Given the description of an element on the screen output the (x, y) to click on. 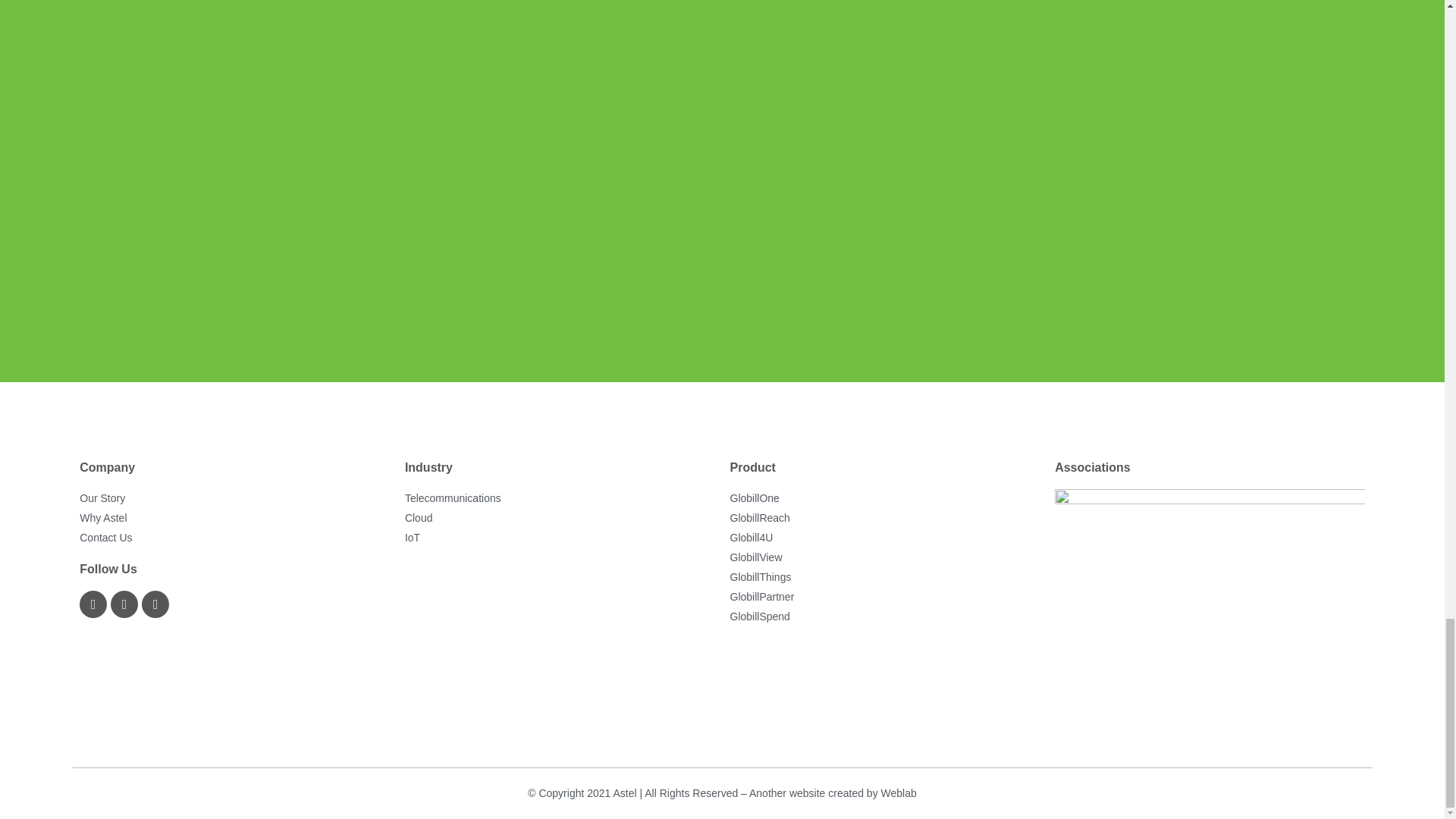
web design (898, 793)
